Given the description of an element on the screen output the (x, y) to click on. 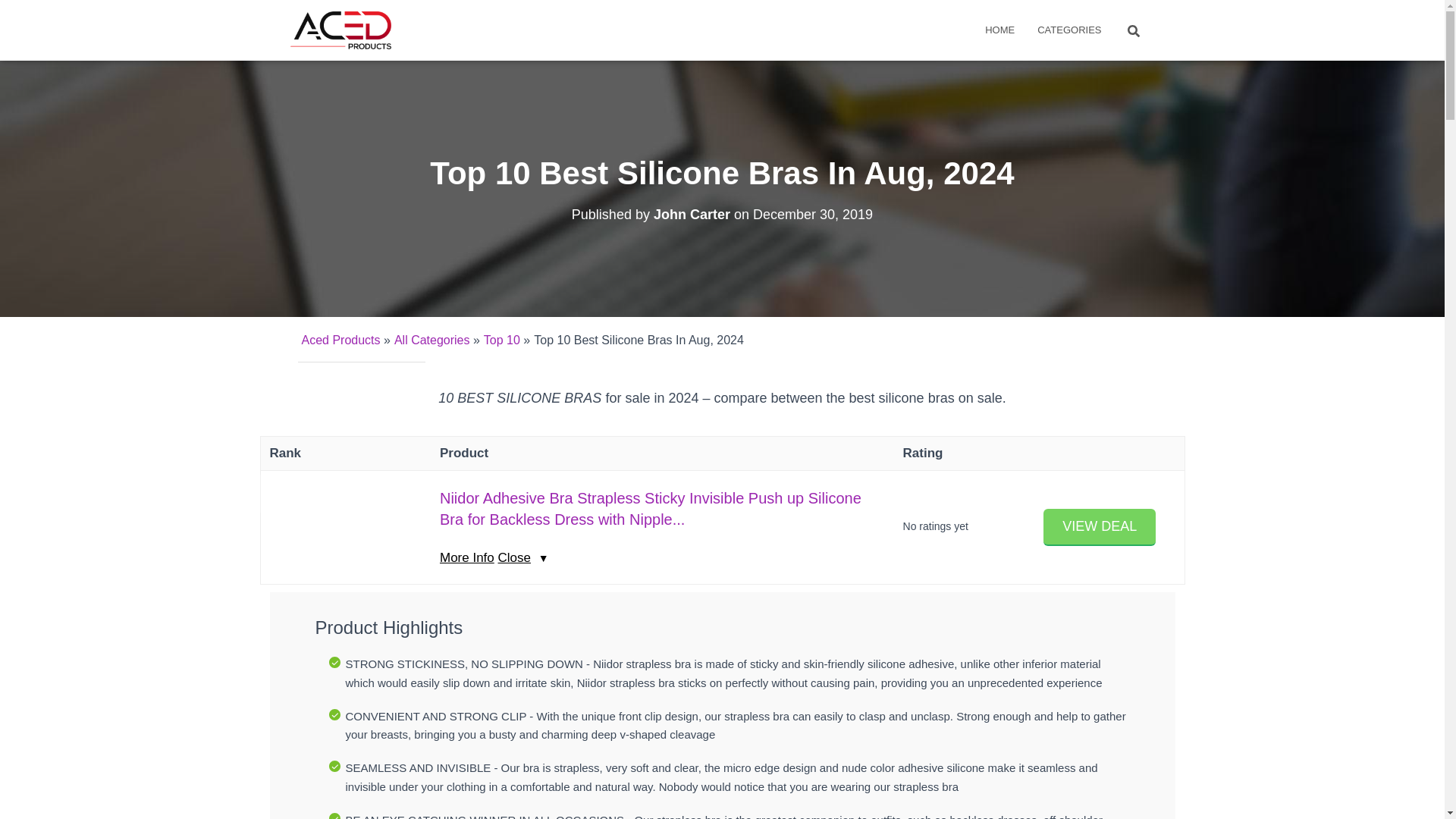
CATEGORIES (1069, 30)
Aced Products (340, 339)
Search (16, 16)
All Categories (432, 339)
Categories (1069, 30)
VIEW DEAL (1099, 527)
Top 10 (501, 339)
Home (1000, 30)
John Carter (691, 214)
